Given the description of an element on the screen output the (x, y) to click on. 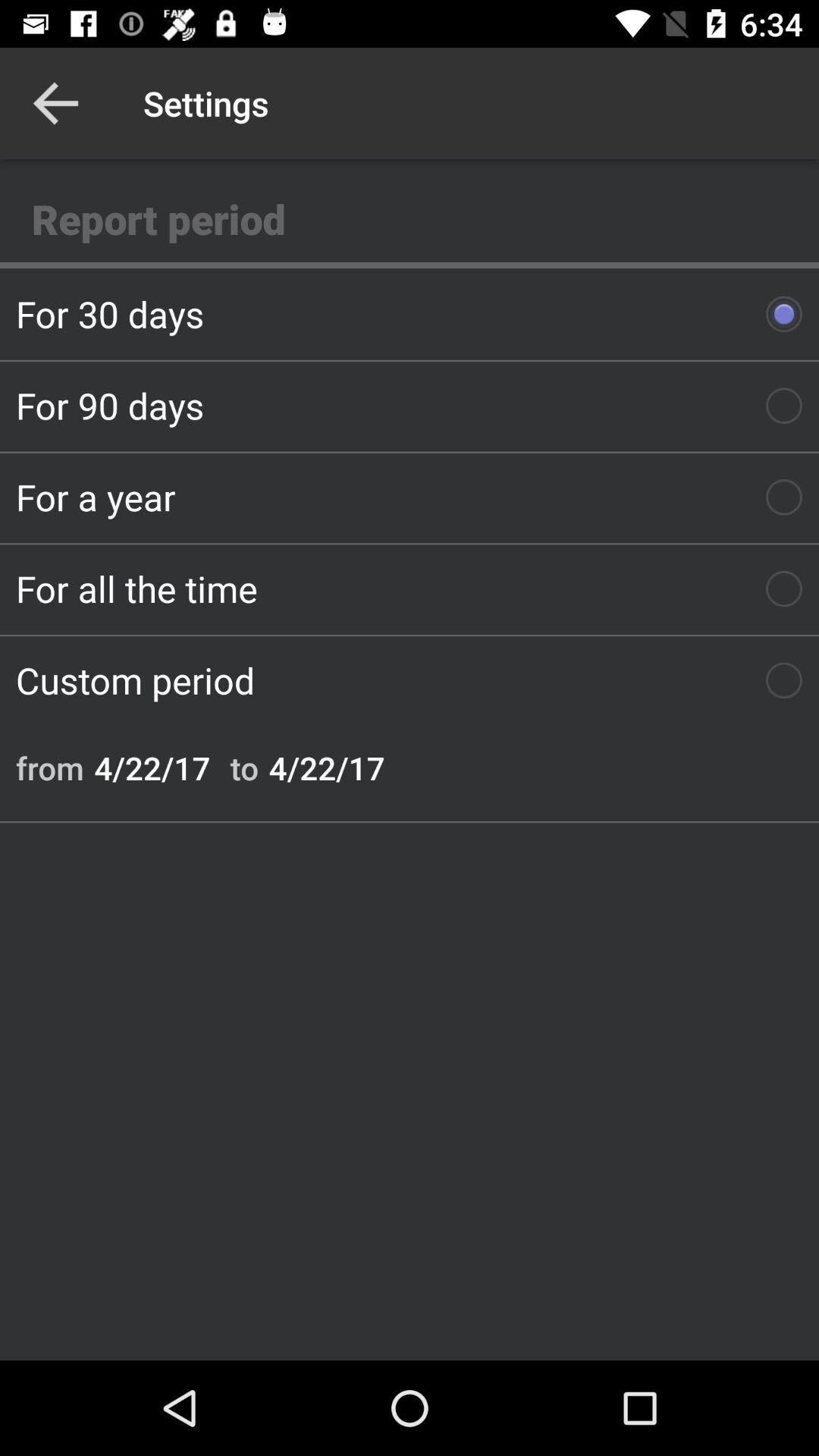
launch icon above the from icon (409, 680)
